Given the description of an element on the screen output the (x, y) to click on. 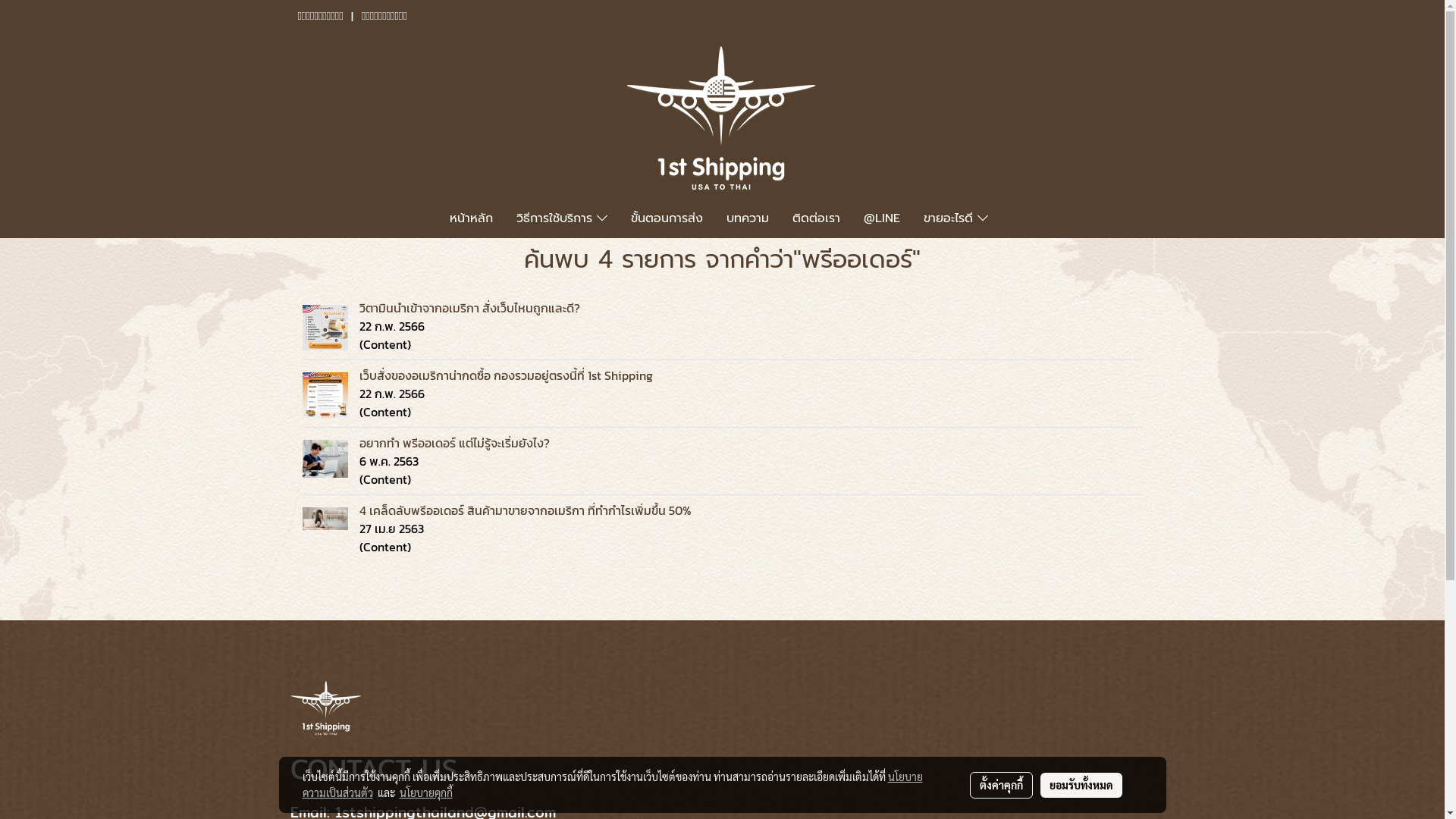
@LINE Element type: text (881, 218)
logo Element type: hover (722, 118)
